Given the description of an element on the screen output the (x, y) to click on. 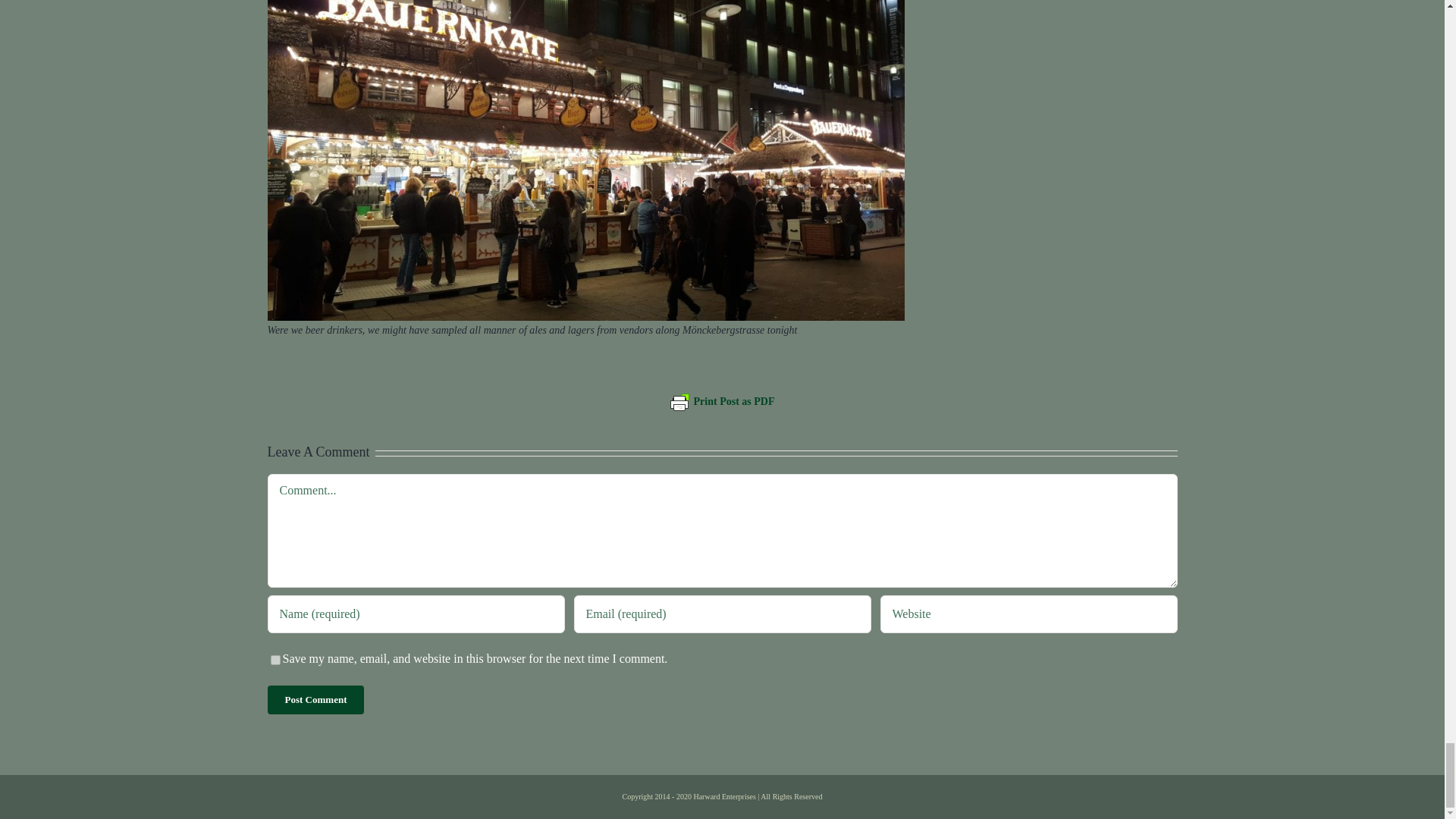
Post Comment (315, 699)
yes (274, 660)
